Given the description of an element on the screen output the (x, y) to click on. 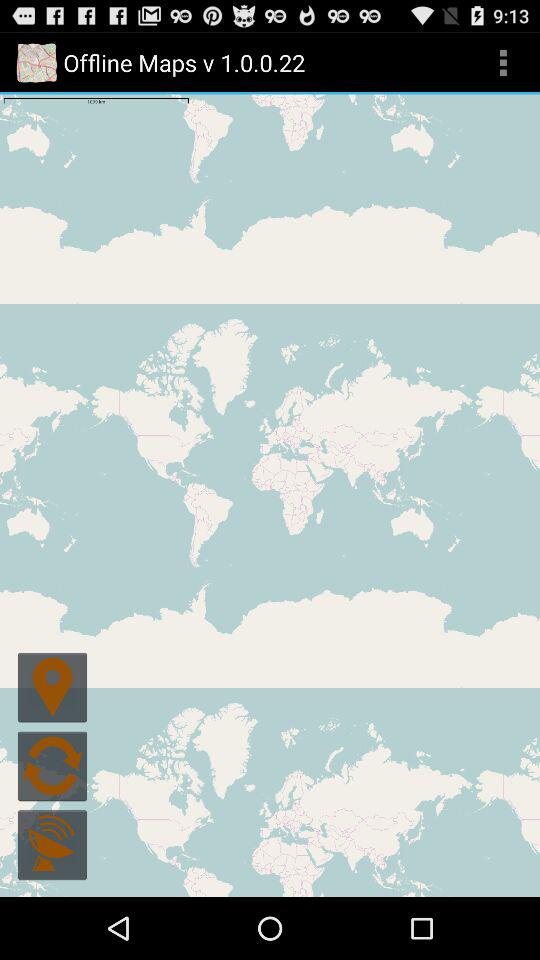
turn off the icon next to offline maps v icon (503, 62)
